Given the description of an element on the screen output the (x, y) to click on. 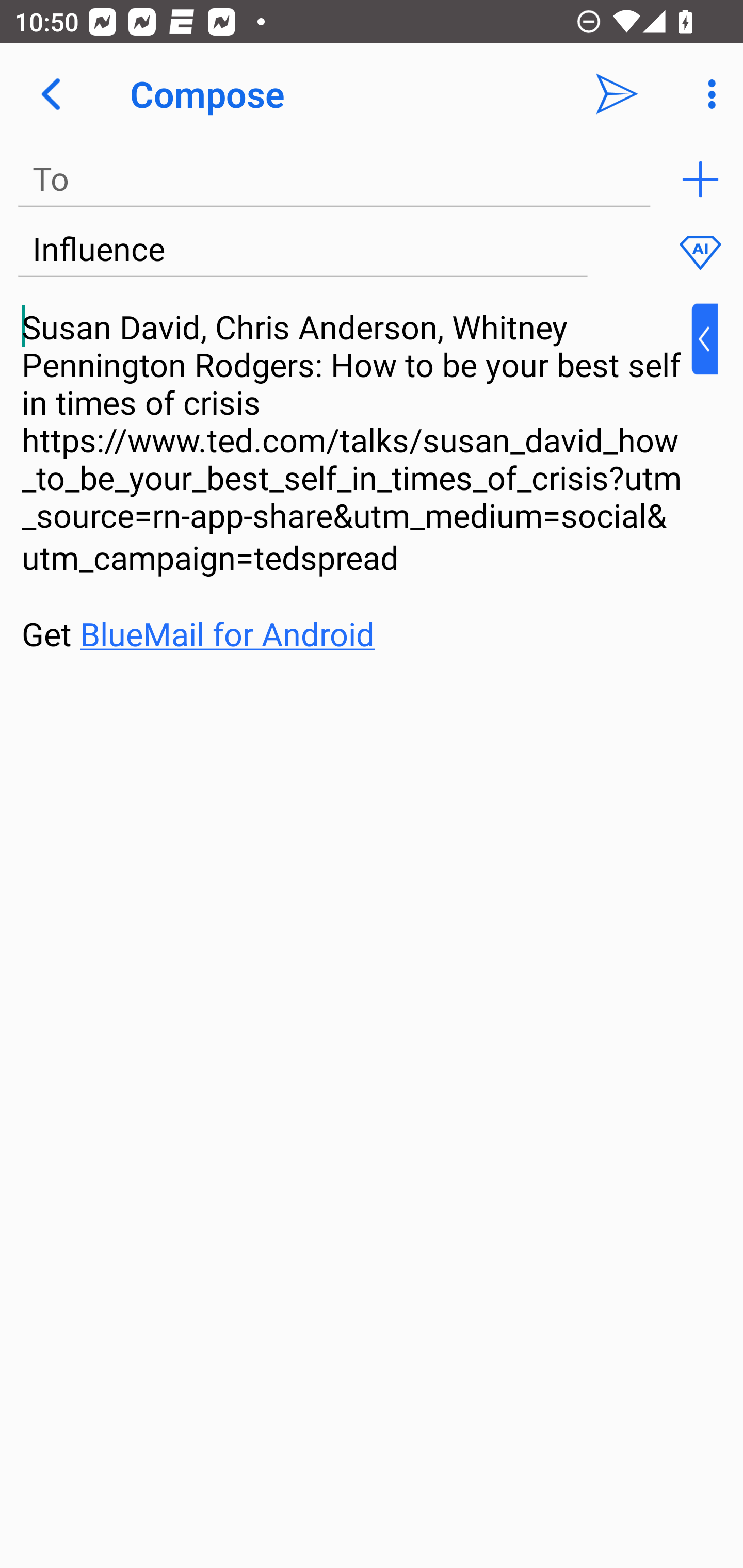
Navigate up (50, 93)
Send (616, 93)
More Options (706, 93)
To (334, 179)
Add recipient (To) (699, 179)
Influence (302, 249)
